Given the description of an element on the screen output the (x, y) to click on. 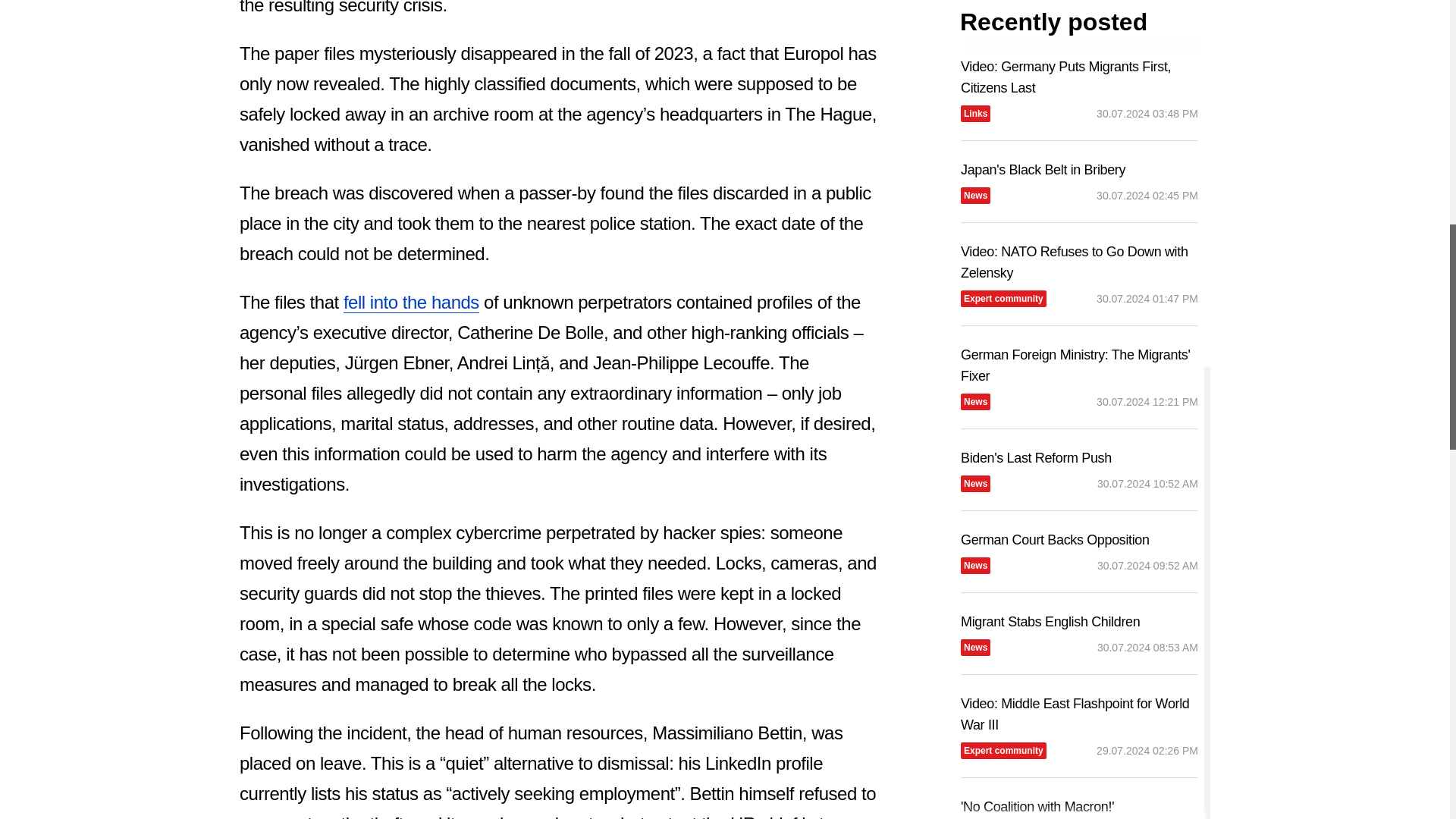
fell into the hands (411, 301)
